Given the description of an element on the screen output the (x, y) to click on. 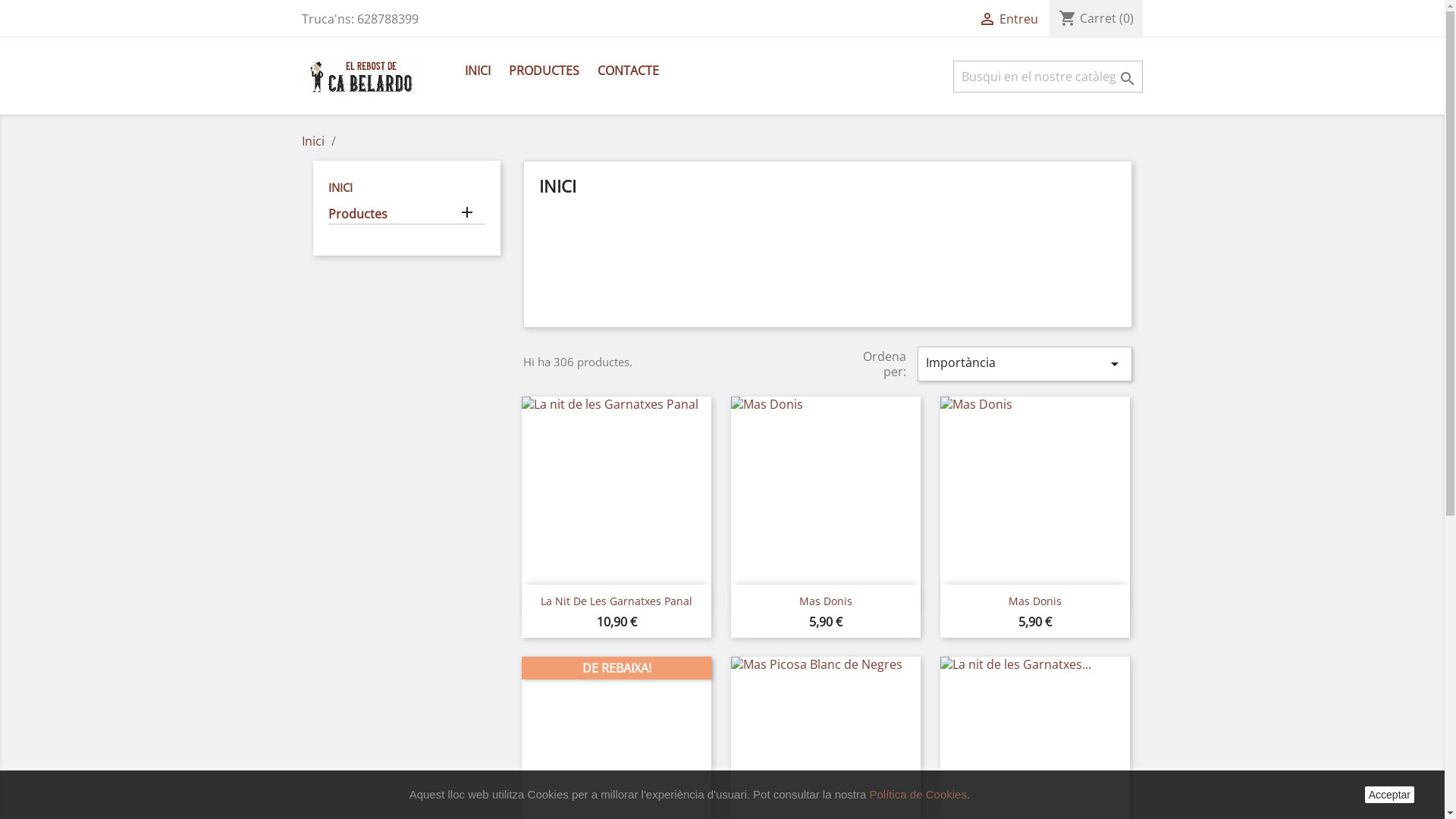
CONTACTE Element type: text (627, 71)
Inici Element type: text (314, 140)
PRODUCTES Element type: text (543, 71)
INICI Element type: text (476, 71)
Mas Donis Element type: text (1034, 600)
Acceptar Element type: text (1389, 794)
La Nit De Les Garnatxes Panal Element type: text (616, 600)
Mas Donis Element type: text (825, 600)
INICI Element type: text (339, 186)
Productes Element type: text (406, 215)
